Given the description of an element on the screen output the (x, y) to click on. 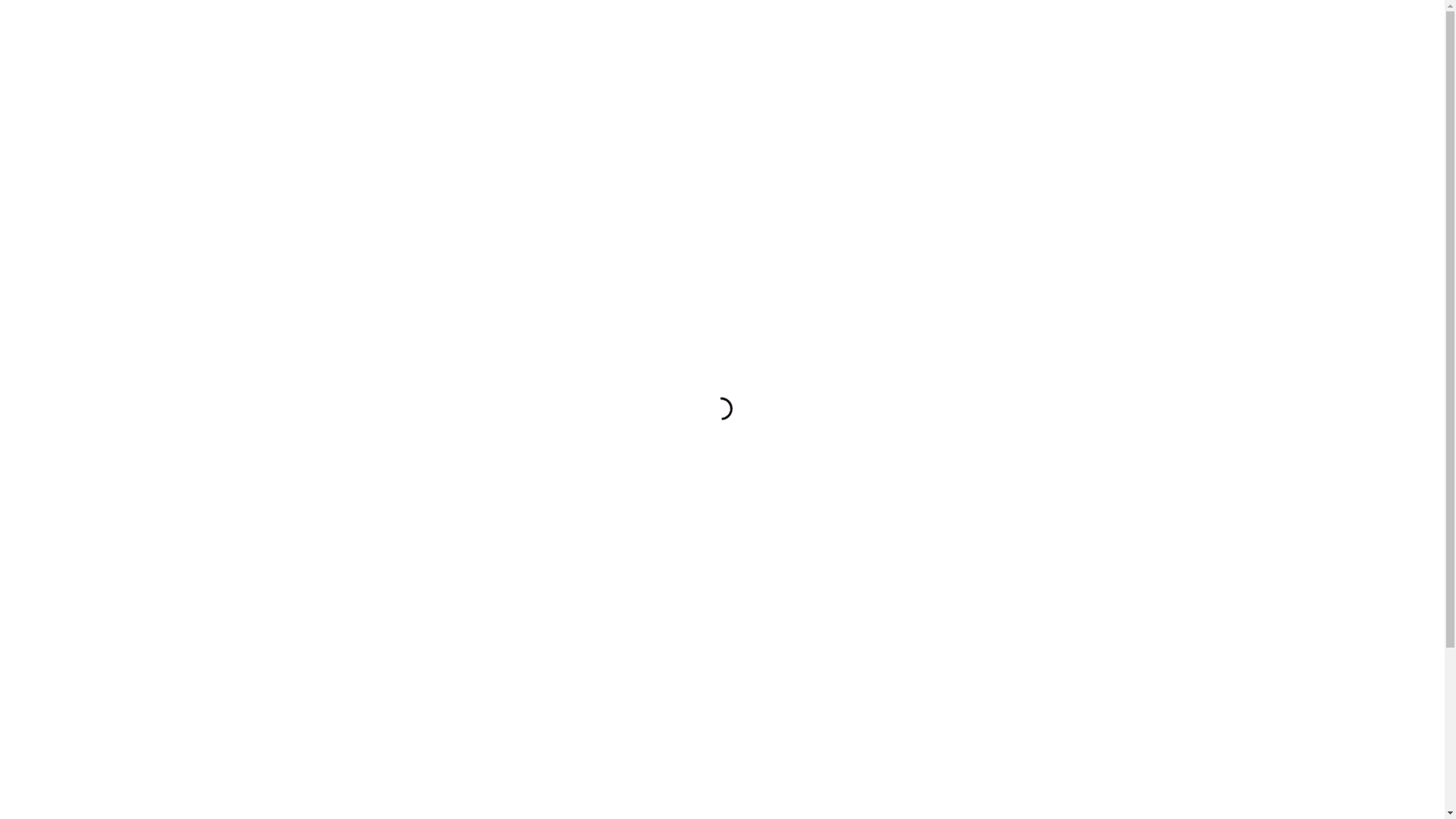
Home Element type: text (1010, 48)
Skip to content Element type: text (0, 0)
Contact Me Element type: text (1139, 48)
Hosting Element type: text (1092, 48)
Portofolio Element type: text (1049, 48)
